Given the description of an element on the screen output the (x, y) to click on. 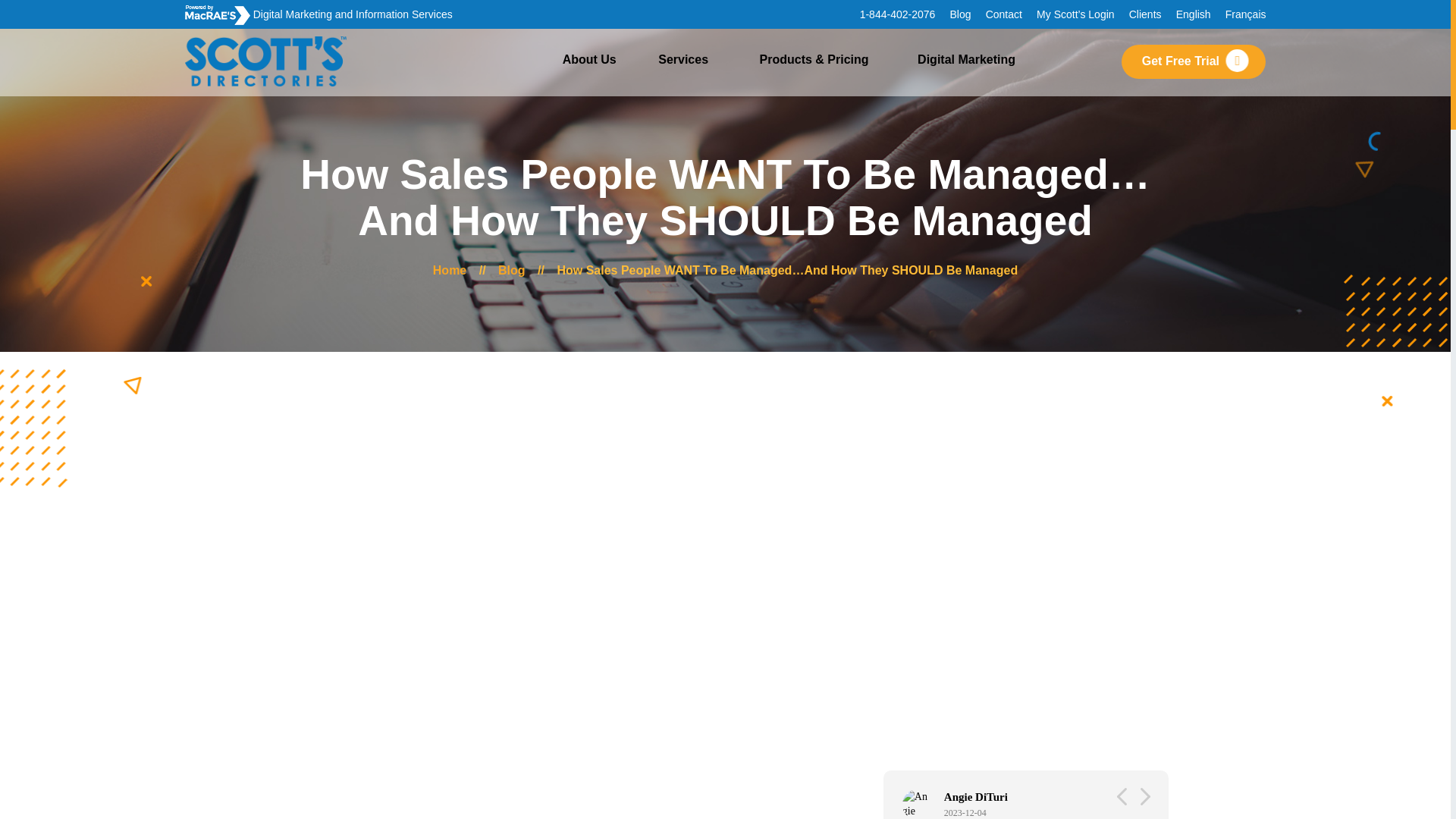
Blog (511, 269)
Services (683, 59)
Contact (1003, 14)
English (1193, 14)
Digital Marketing (965, 59)
Home (448, 269)
About Us (589, 59)
Blog (960, 14)
Get Free Trial (1193, 61)
1-844-402-2076 (898, 14)
